Given the description of an element on the screen output the (x, y) to click on. 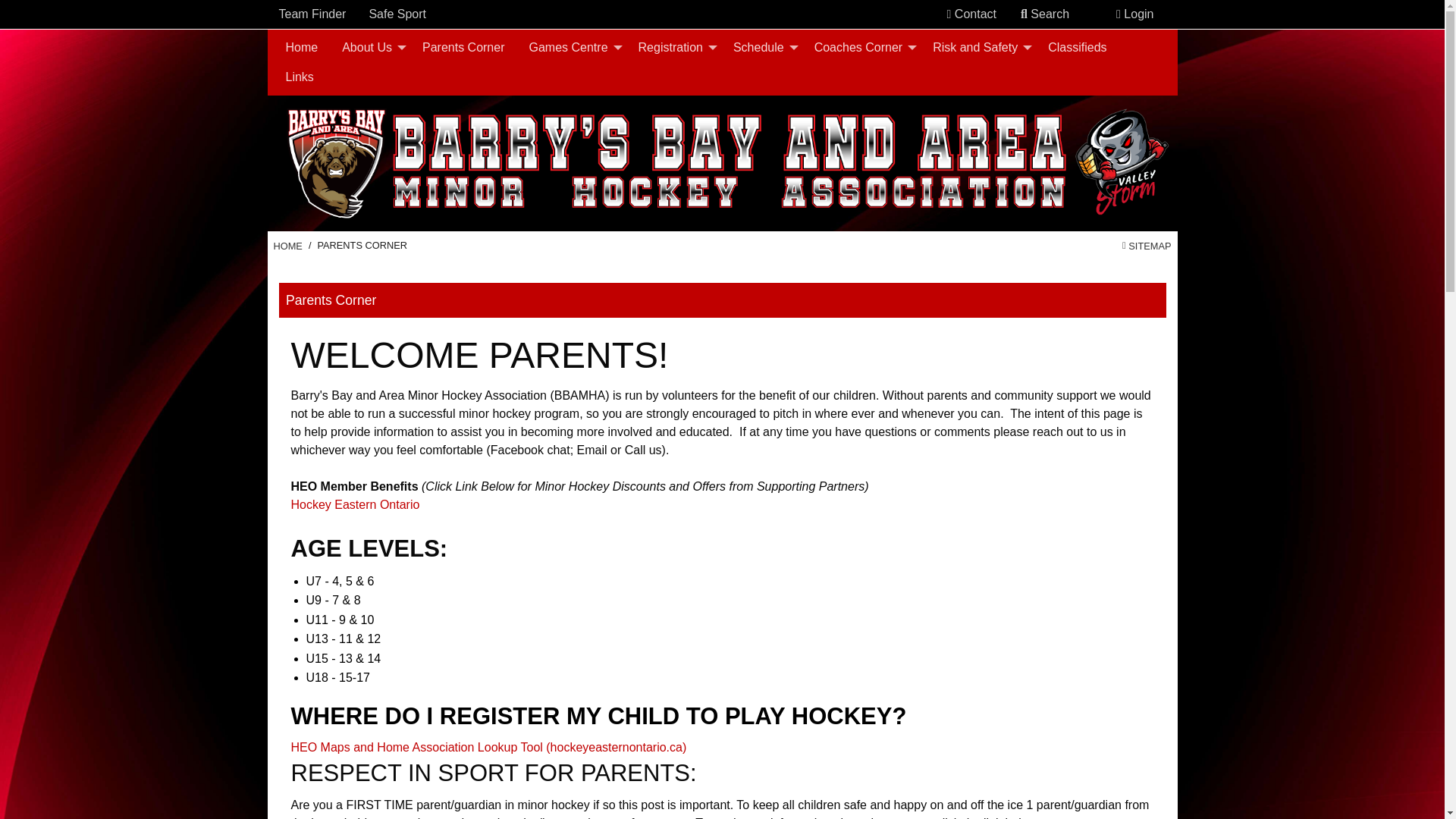
Main Home Page (287, 245)
Team Finder (312, 13)
About Us (370, 47)
Parents Corner (463, 47)
Coaches Corner (861, 47)
 Login (1134, 14)
Games Centre (571, 47)
Registration (673, 47)
Home (301, 47)
Go to the sitemap page for this website (1146, 245)
Safe Sport (397, 13)
 Contact (971, 14)
 Search (1045, 14)
Schedule (761, 47)
